Given the description of an element on the screen output the (x, y) to click on. 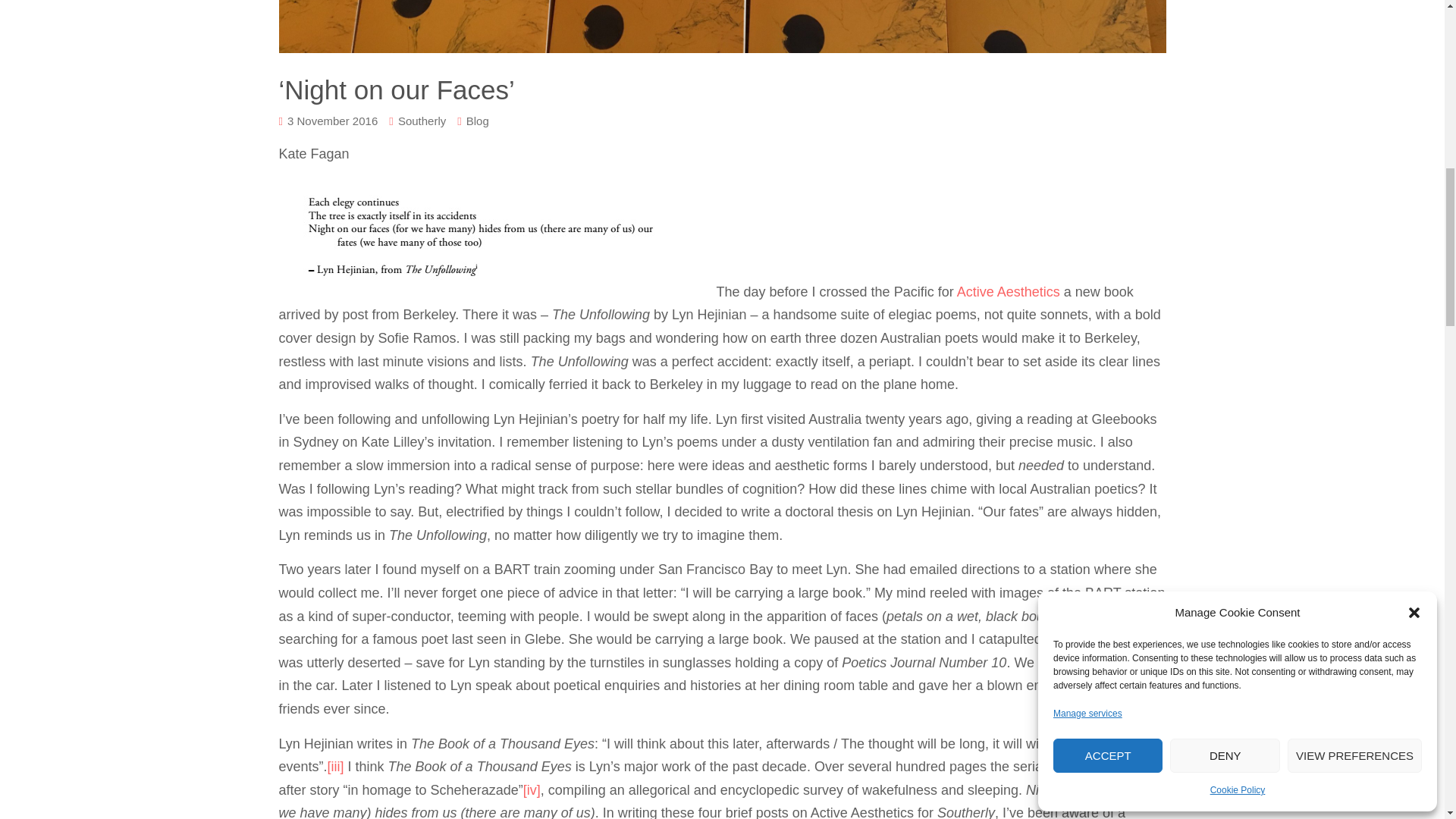
Blog (477, 119)
3 November 2016 (331, 119)
Active Aesthetics (1007, 291)
Southerly (421, 119)
